Given the description of an element on the screen output the (x, y) to click on. 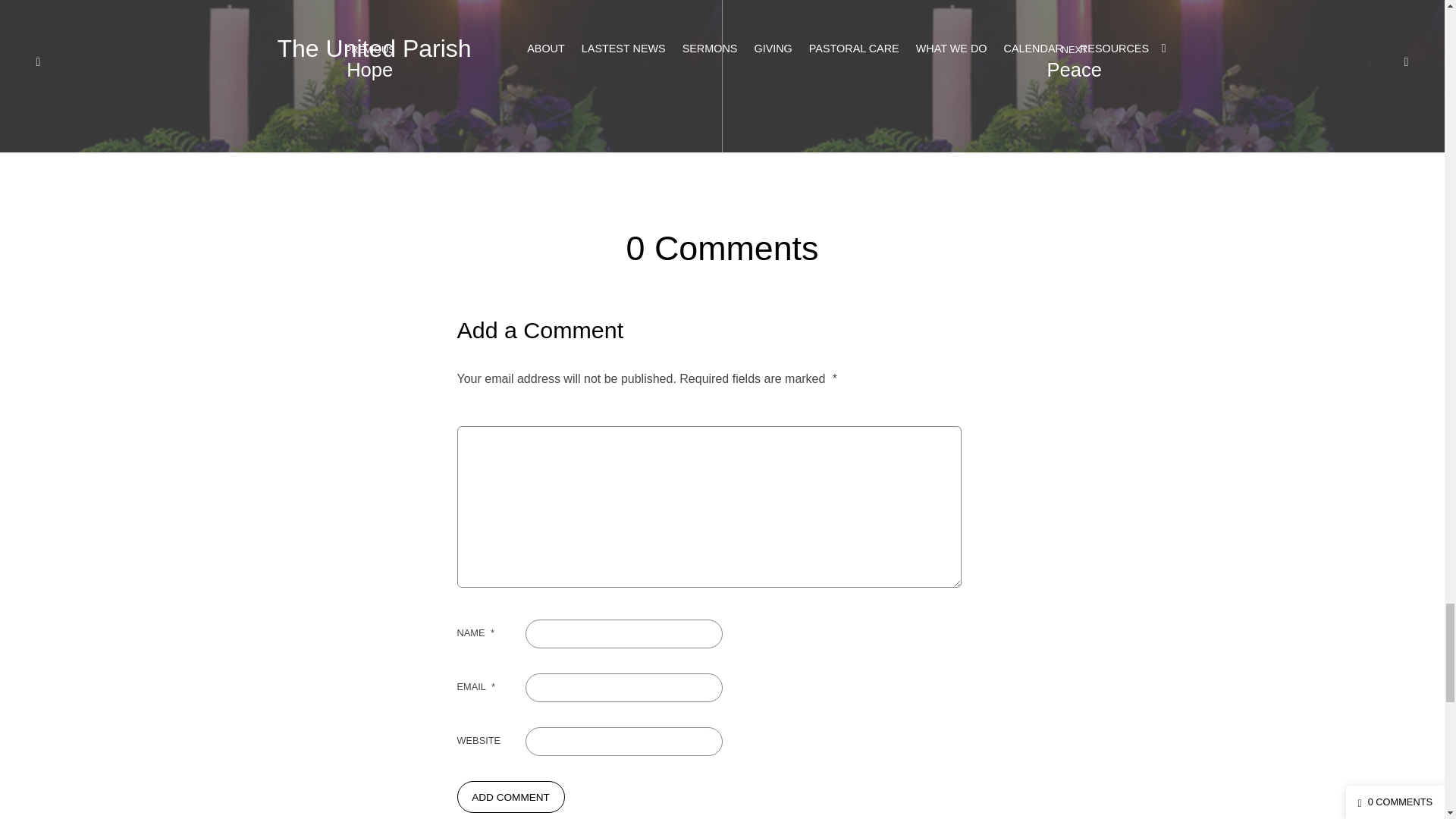
Add Comment (510, 797)
